Given the description of an element on the screen output the (x, y) to click on. 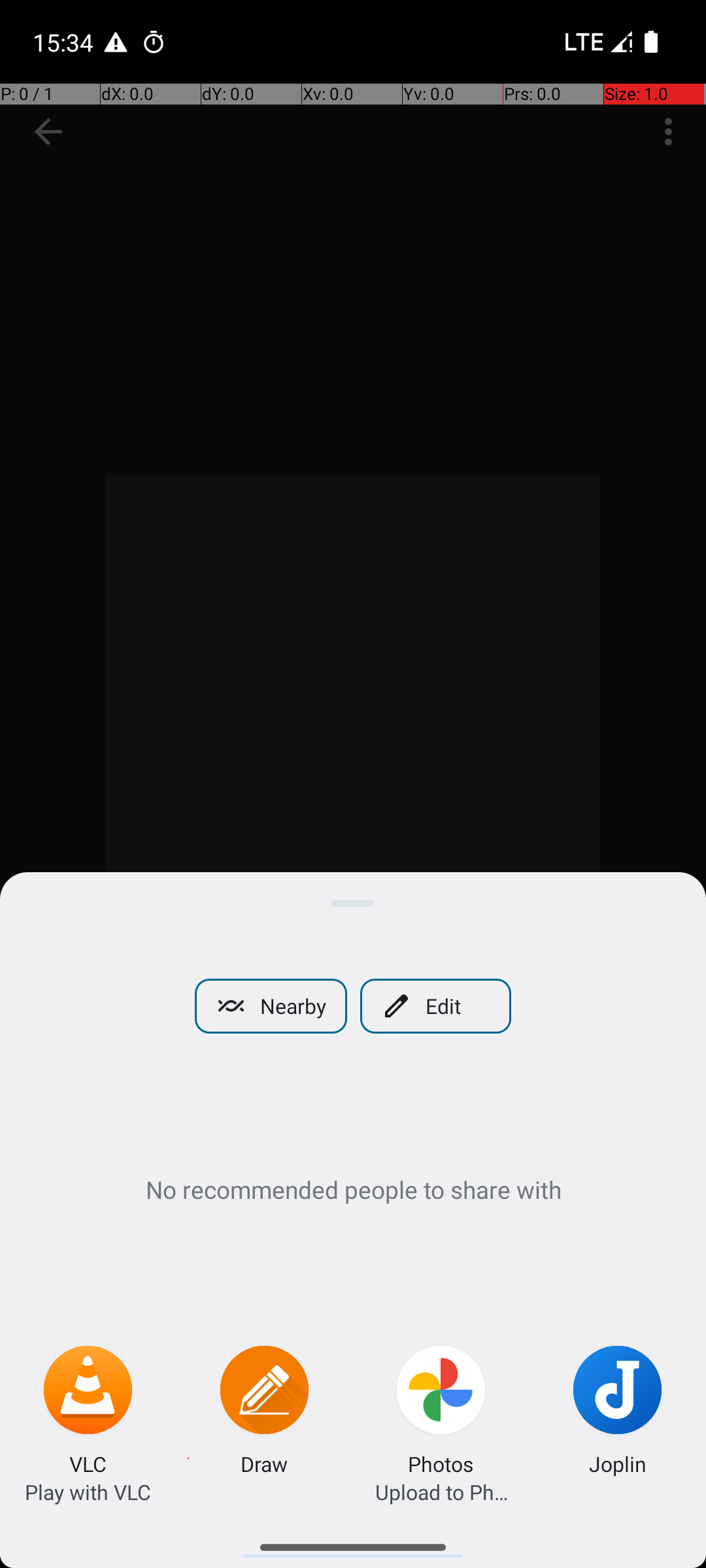
Apps list Element type: android.widget.ImageView (353, 1541)
Nearby Element type: android.widget.Button (270, 1005)
Edit Element type: android.widget.Button (435, 1005)
No recommended people to share with Element type: android.widget.TextView (353, 1189)
VLC Element type: android.widget.TextView (87, 1463)
Play with VLC Element type: android.widget.TextView (87, 1491)
Draw Element type: android.widget.TextView (264, 1463)
Upload to Photos Element type: android.widget.TextView (440, 1491)
Joplin Element type: android.widget.TextView (617, 1463)
